Given the description of an element on the screen output the (x, y) to click on. 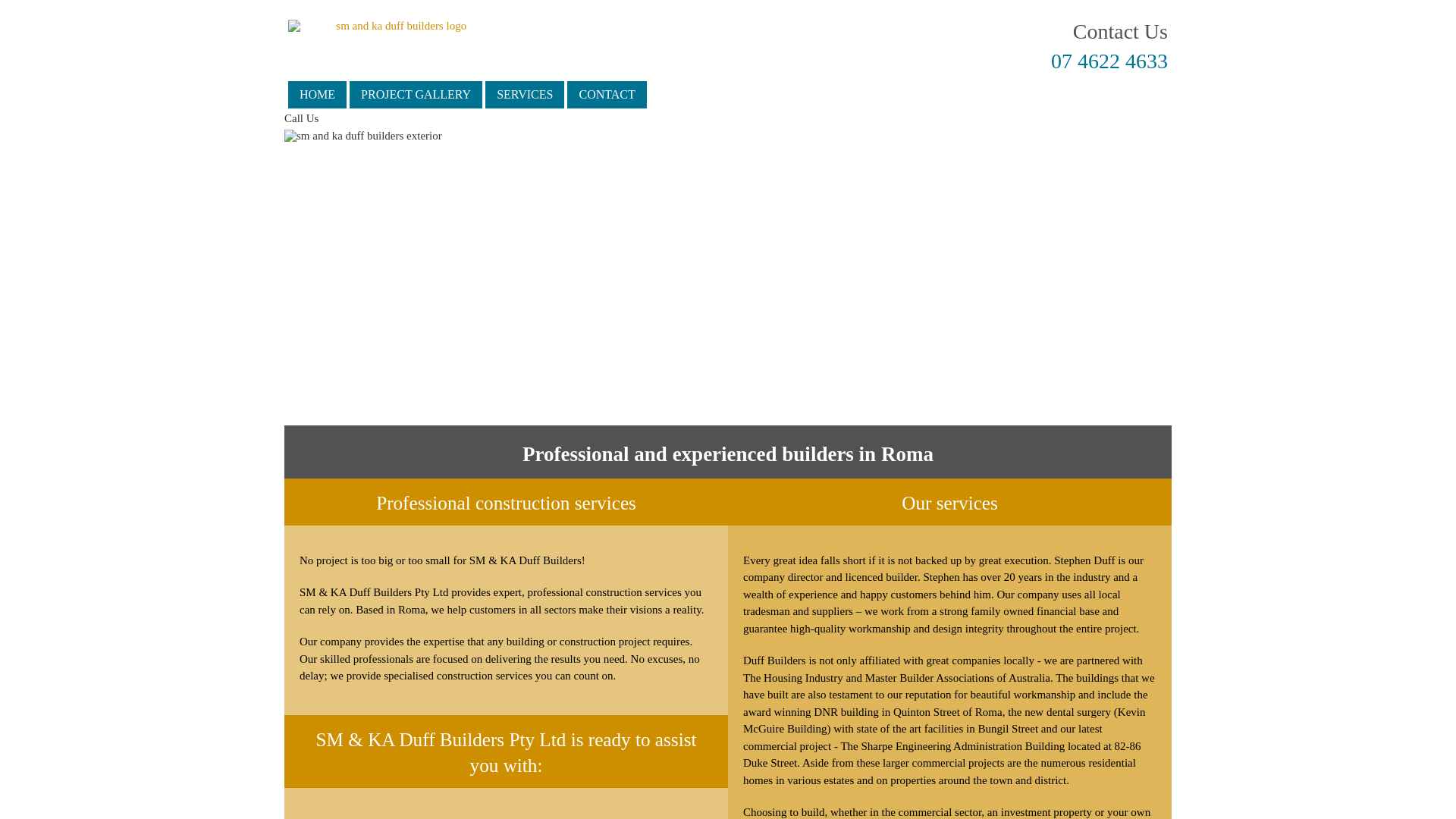
SERVICES Element type: text (524, 94)
PROJECT GALLERY Element type: text (415, 94)
CONTACT Element type: text (606, 94)
07 4622 4633 Element type: text (1109, 60)
Call Us Element type: text (301, 118)
HOME Element type: text (317, 94)
sm and ka duff builders exterior Element type: hover (727, 277)
sm and ka duff builders logo Element type: hover (395, 25)
